Given the description of an element on the screen output the (x, y) to click on. 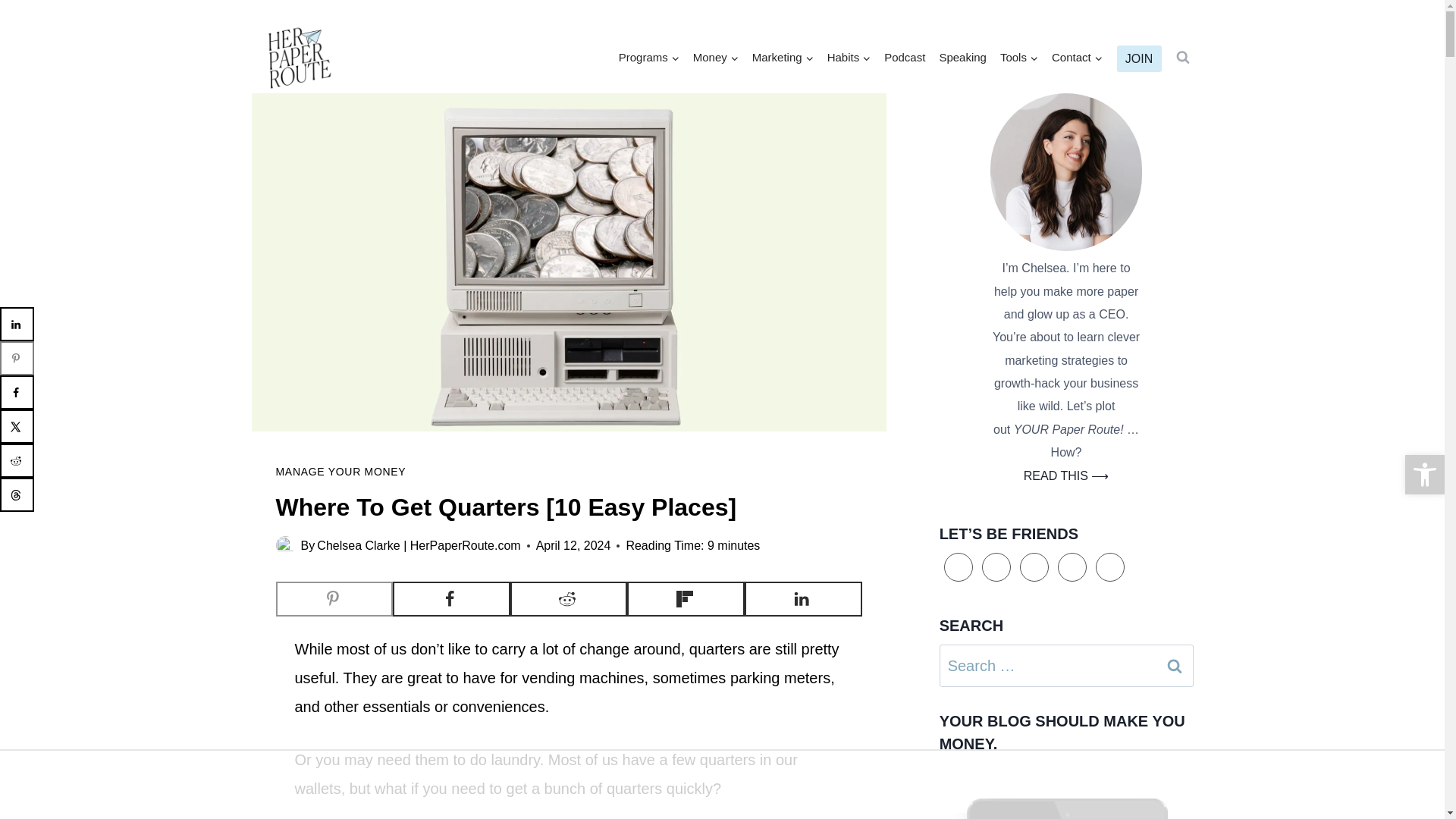
Programs (648, 58)
Share on Facebook (452, 598)
Search (1174, 665)
Marketing (783, 58)
Share on Flipboard (685, 598)
Accessibility Tools (1424, 474)
Save to Pinterest (334, 598)
Share on LinkedIn (802, 598)
Search (1174, 665)
Money (715, 58)
